Given the description of an element on the screen output the (x, y) to click on. 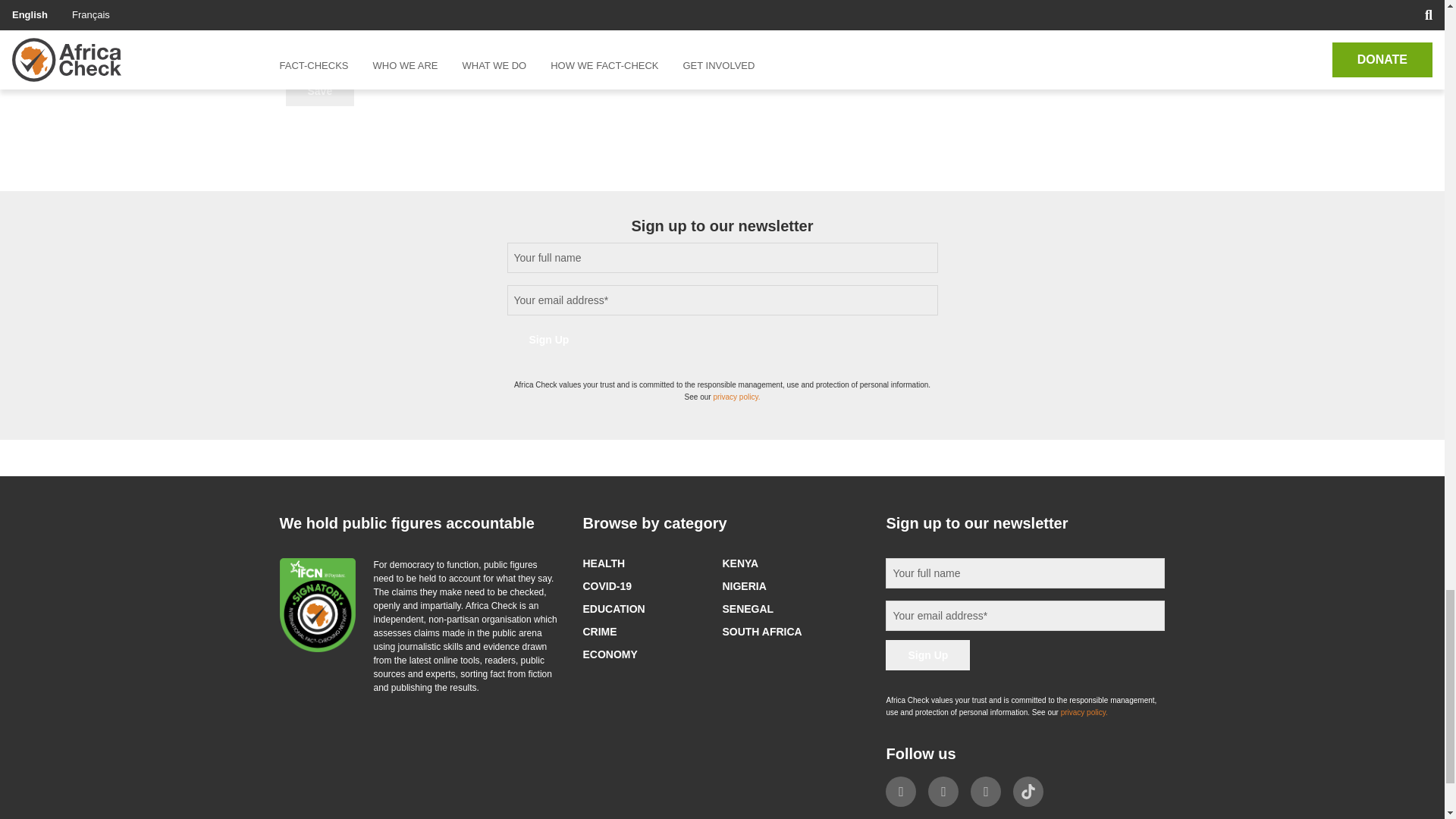
Save (319, 91)
Sign Up (548, 339)
Sign Up (927, 654)
